Given the description of an element on the screen output the (x, y) to click on. 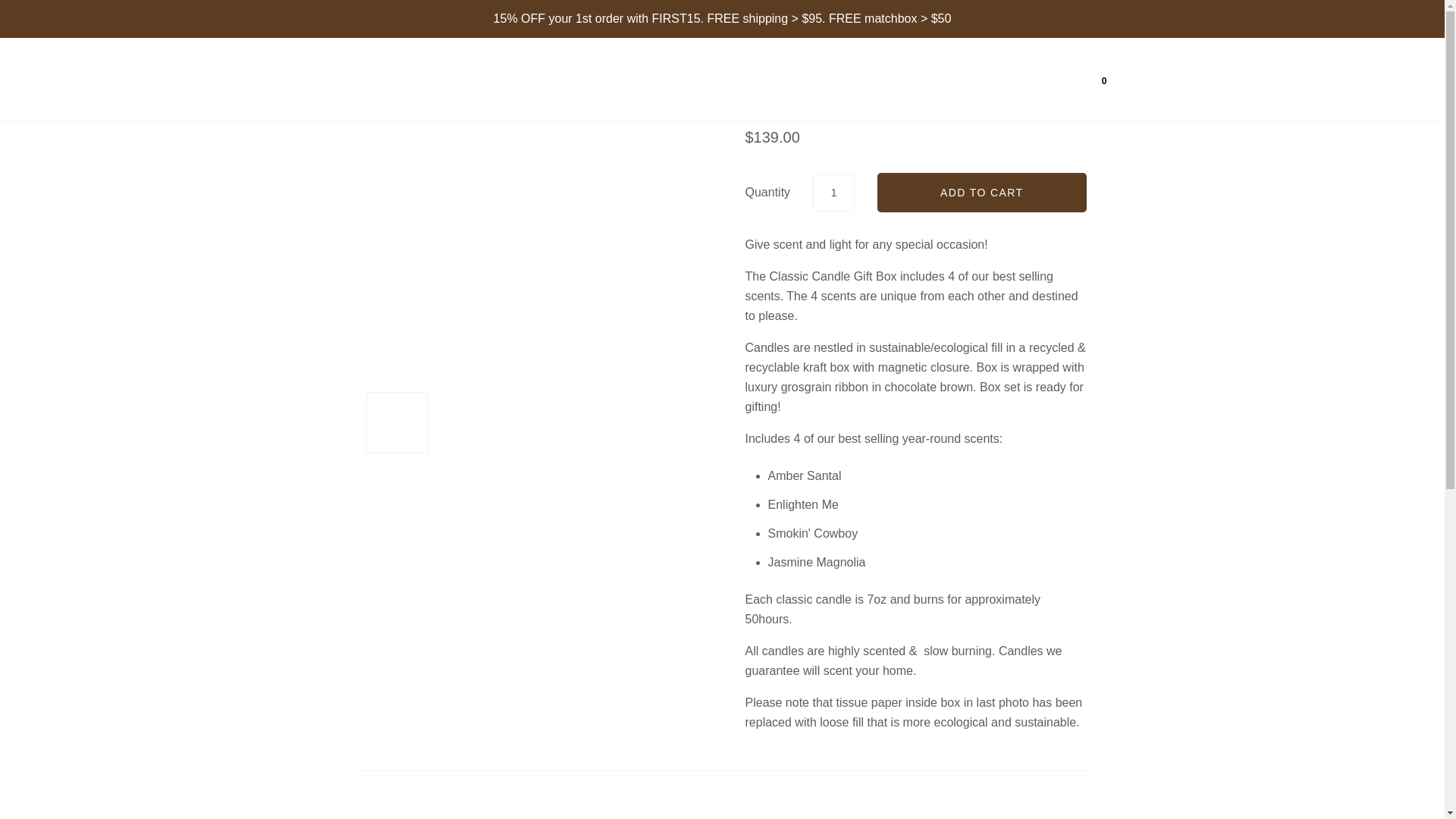
1 (833, 191)
About Us (986, 79)
Best Sellers (788, 79)
Subscriptions (891, 79)
Candles (700, 79)
Add to cart (981, 192)
